Given the description of an element on the screen output the (x, y) to click on. 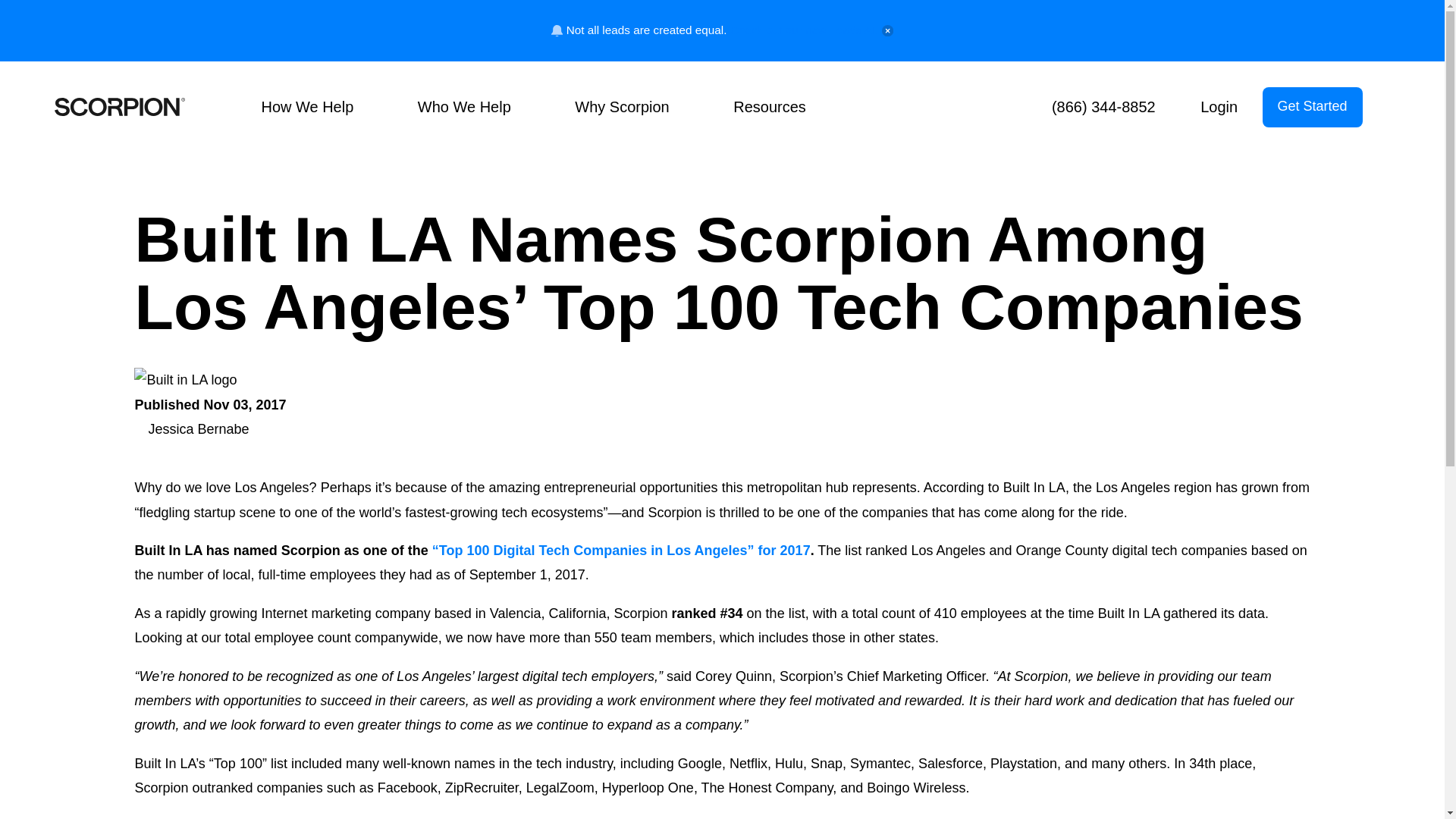
Home (119, 107)
Who We Help (475, 106)
How We Help (317, 106)
Check out our new Leads AI. (804, 29)
